Given the description of an element on the screen output the (x, y) to click on. 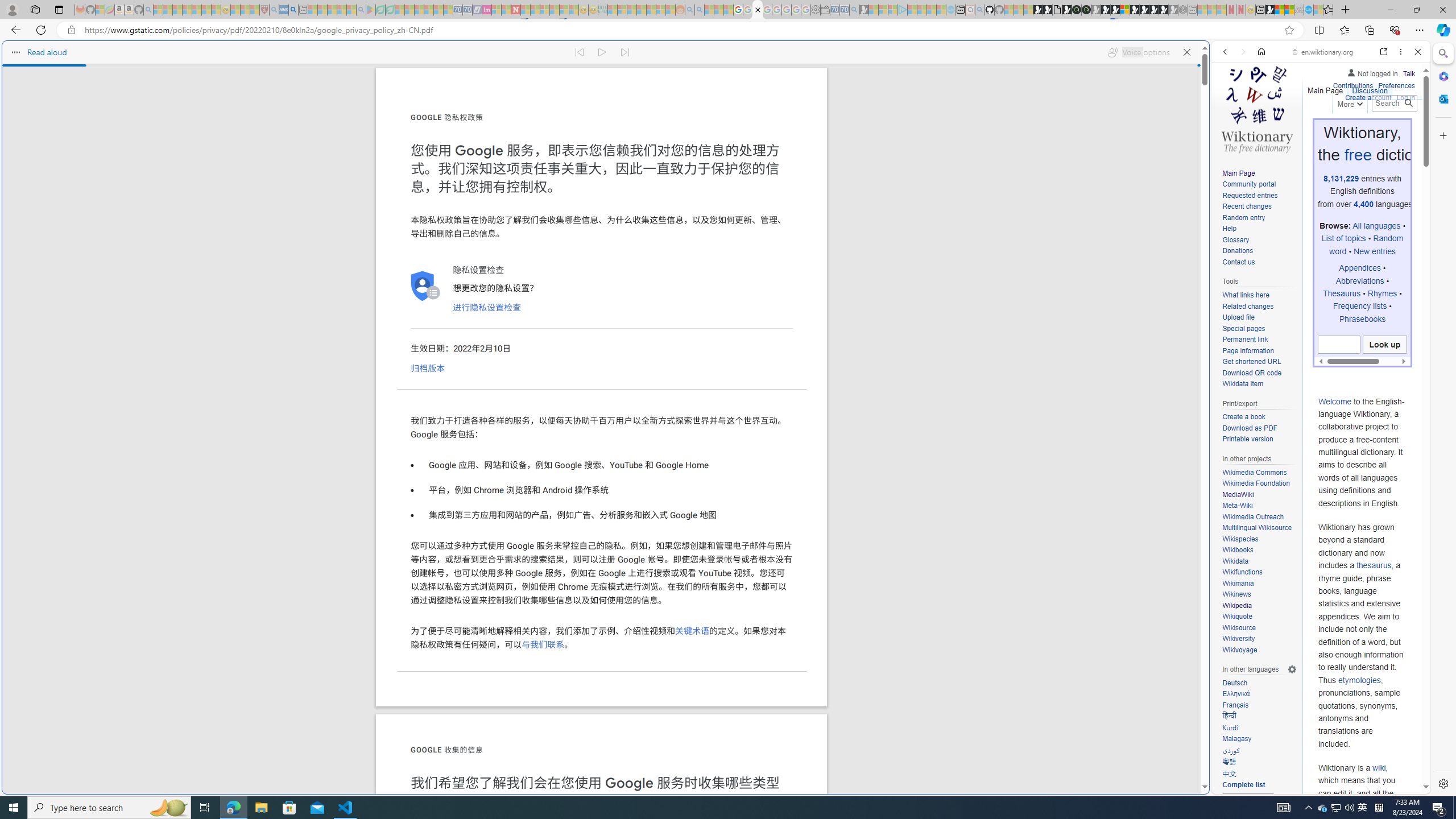
Trusted Community Engagement and Contributions | Guidelines (525, 9)
Wikimedia Commons (1259, 472)
Wikiquote (1236, 616)
Close Customize pane (1442, 135)
163 more (1247, 801)
google_privacy_policy_zh-CN.pdf (1118, 683)
Read previous paragraph (579, 52)
Get shortened URL (1259, 361)
The Weather Channel - MSN - Sleeping (177, 9)
Look up (1384, 344)
